Given the description of an element on the screen output the (x, y) to click on. 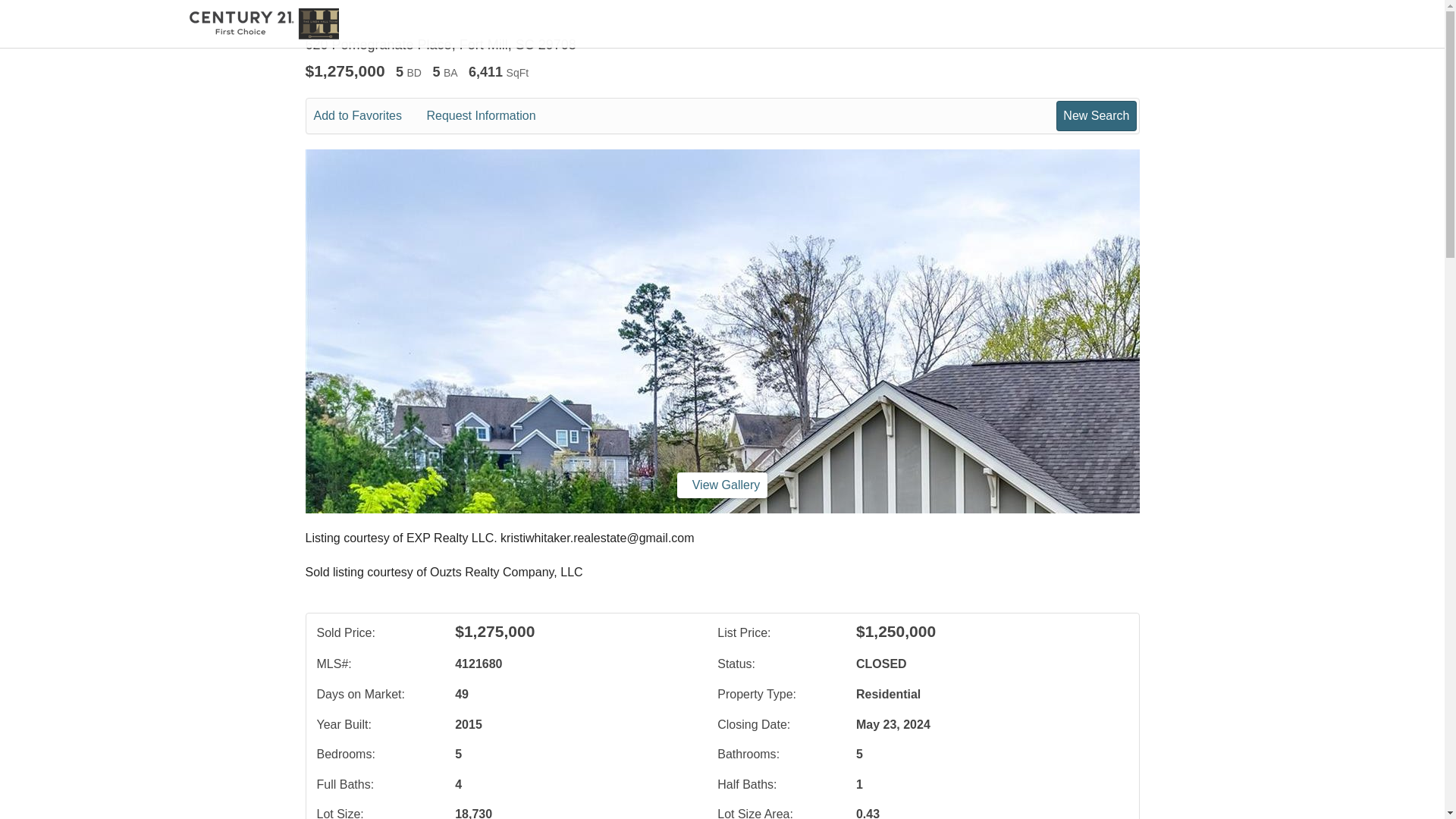
New Search (1096, 115)
Add to Favorites (368, 115)
View Gallery (722, 484)
View Gallery (722, 484)
Request Information (491, 115)
